Given the description of an element on the screen output the (x, y) to click on. 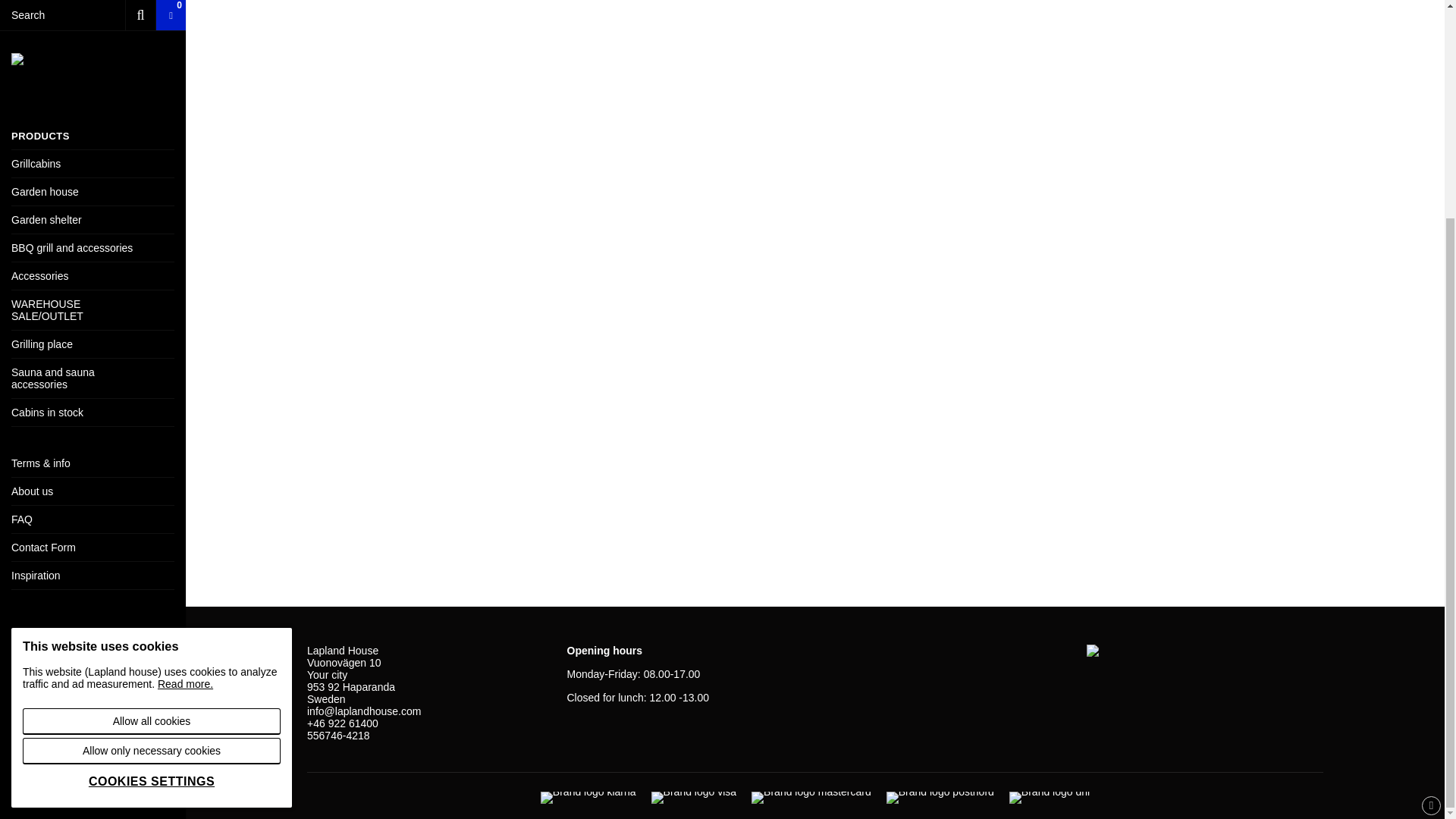
Sauna and sauna accessories (92, 89)
Contact Form (92, 258)
Allow only necessary cookies (152, 462)
COOKIES SETTINGS (152, 493)
Inspiration (92, 287)
Grilling place (92, 55)
Allow all cookies (152, 433)
About us (92, 203)
Cabins in stock (92, 124)
FAQ (92, 230)
